Given the description of an element on the screen output the (x, y) to click on. 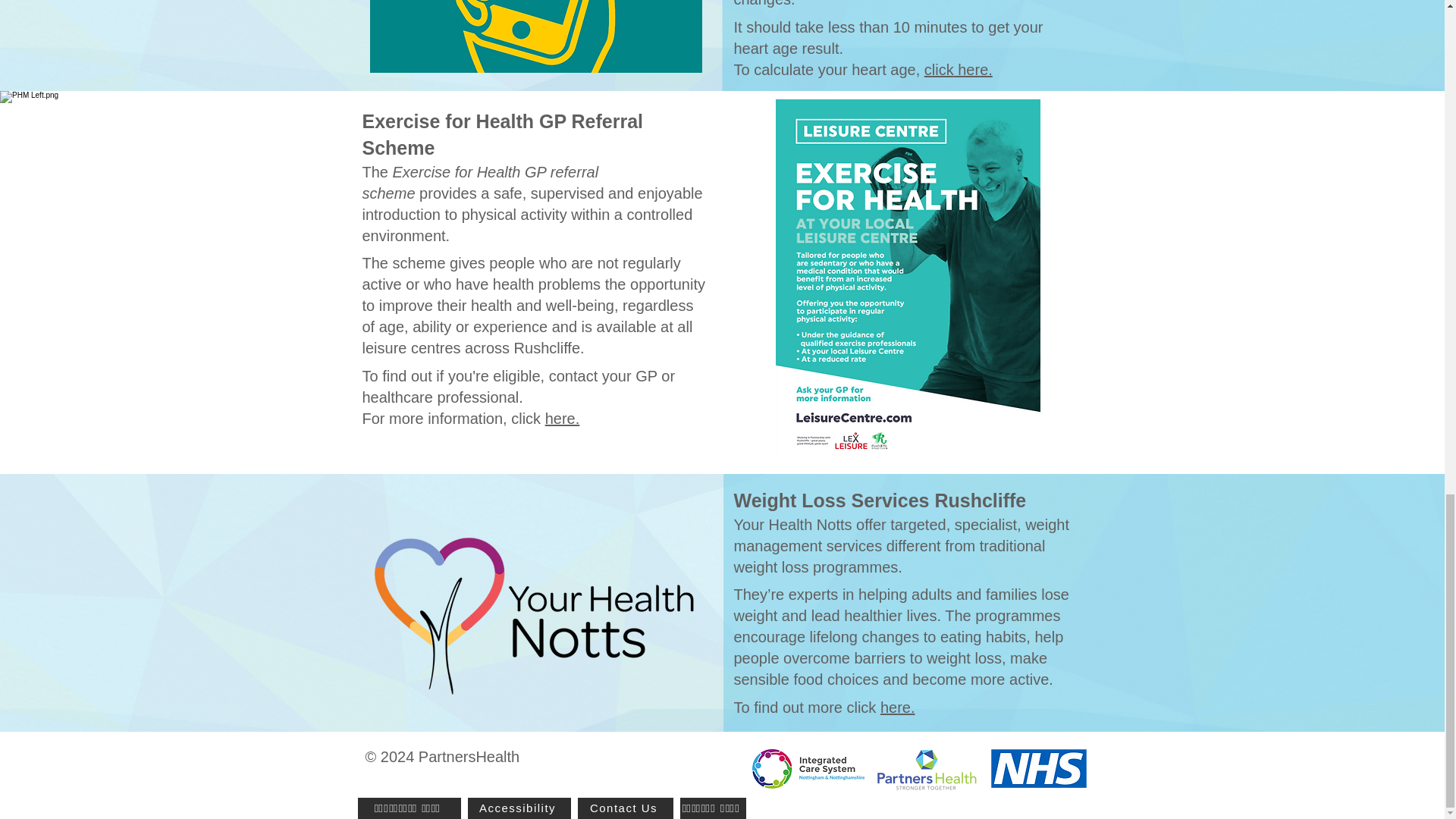
Your health notts.png (536, 614)
